Given the description of an element on the screen output the (x, y) to click on. 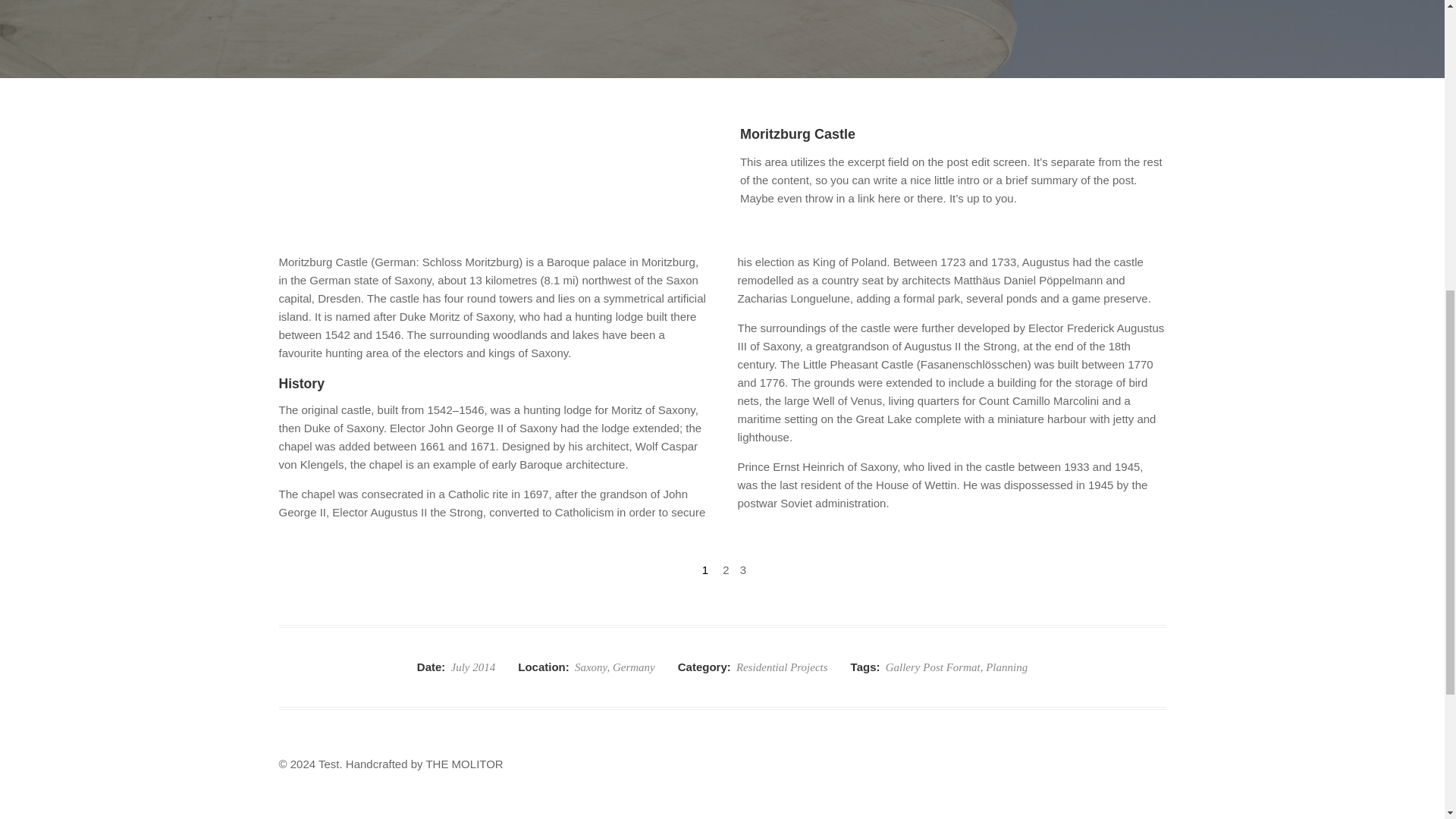
here (889, 197)
July 2014 (473, 666)
2 (725, 569)
3 (742, 569)
there (929, 197)
